Given the description of an element on the screen output the (x, y) to click on. 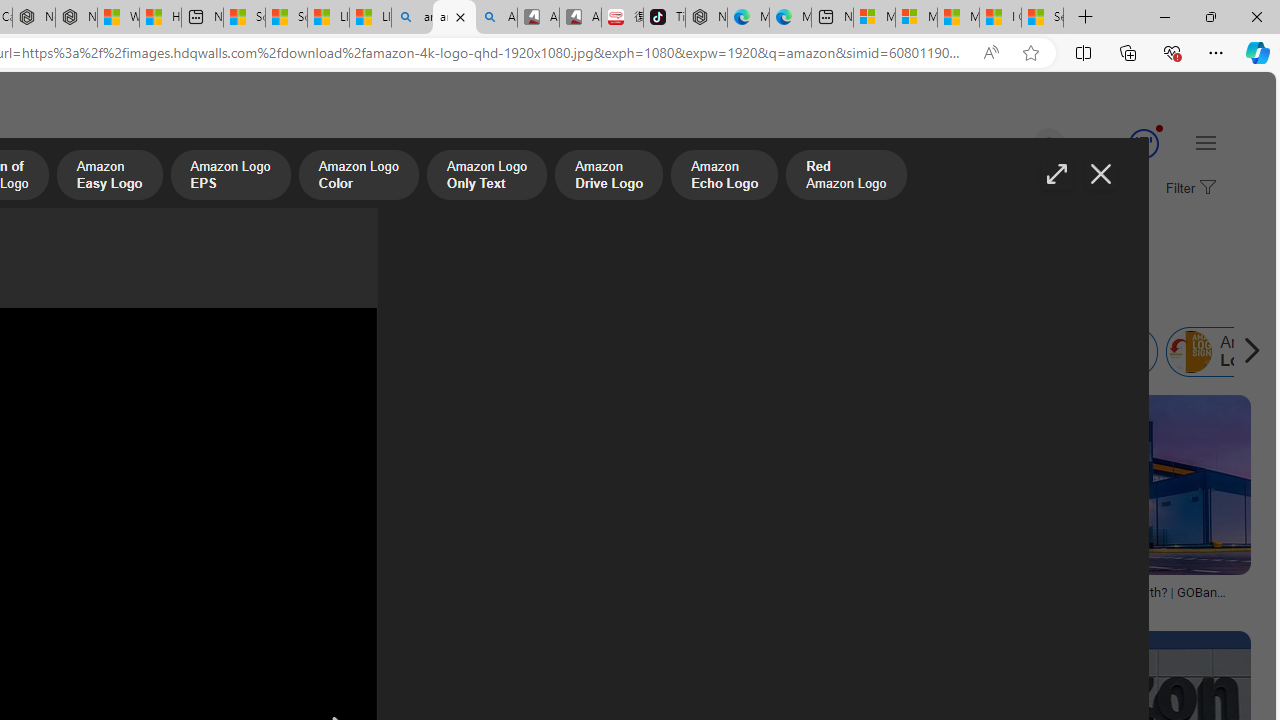
Amazon Prime Membership (44, 351)
amazon - Search Images (453, 17)
Amazon Logo Only Text (486, 177)
Microsoft Rewards 141 (1119, 143)
Image result for amazon (1103, 485)
Amazon.com.au (270, 351)
